Given the description of an element on the screen output the (x, y) to click on. 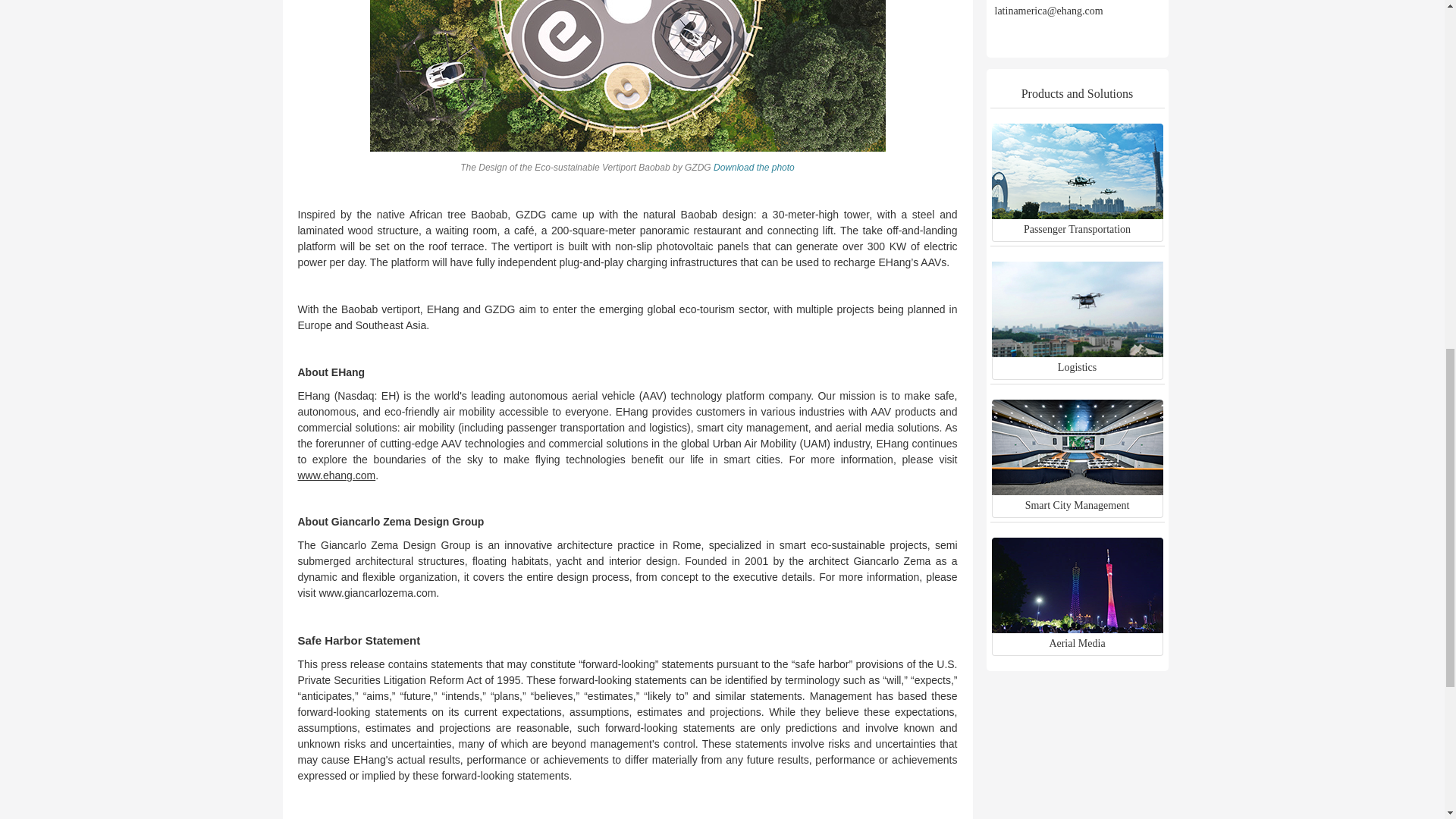
1615897687189844.jpg (627, 75)
www.ehang.com (336, 475)
Smart City Management (1077, 475)
Passenger Transportation (1077, 199)
Logistics (1077, 337)
www.giancarlozema.com (376, 592)
